Given the description of an element on the screen output the (x, y) to click on. 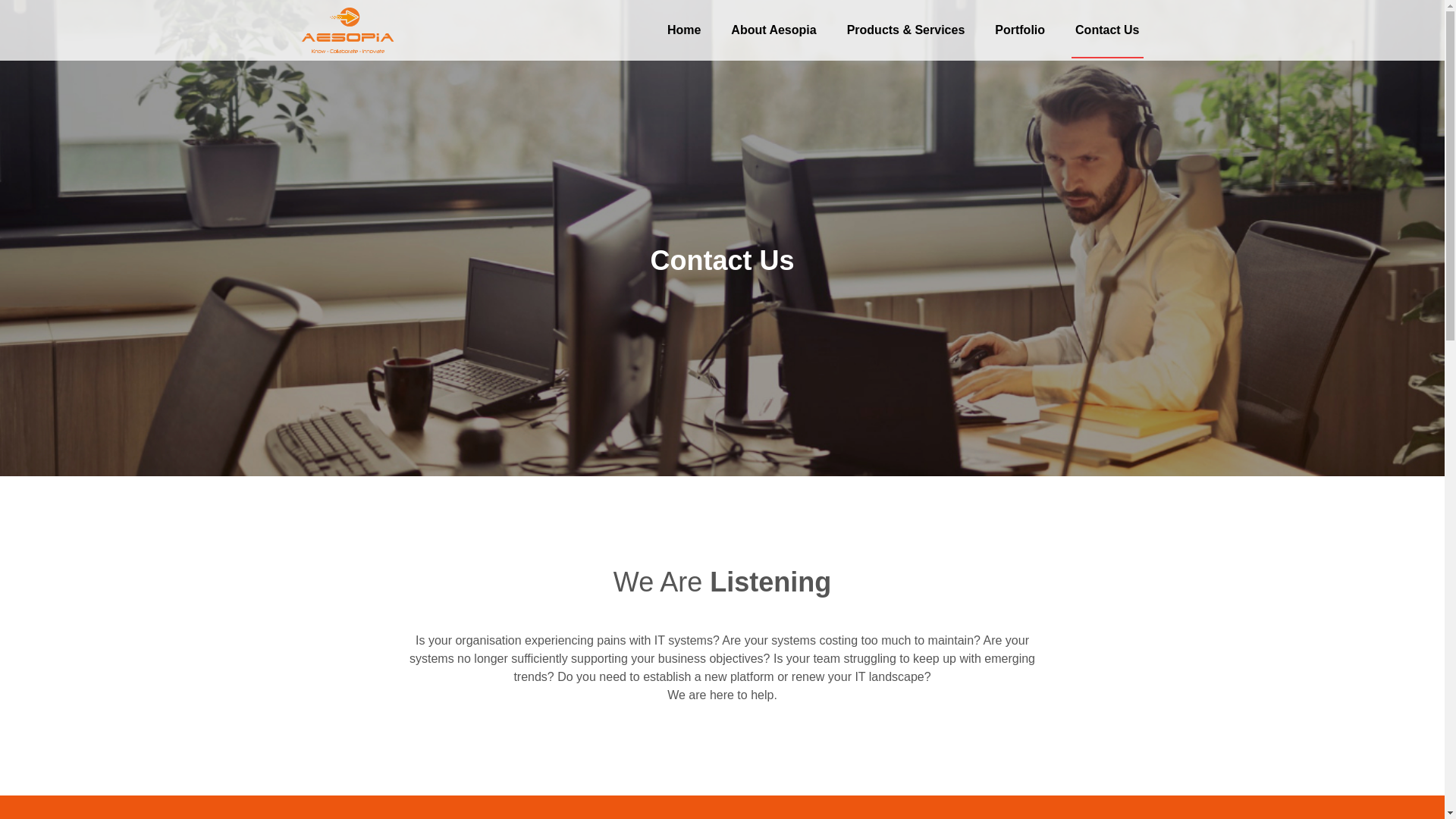
Home (683, 39)
About Aesopia (772, 39)
Contact Us (1106, 40)
Portfolio (1019, 39)
